Given the description of an element on the screen output the (x, y) to click on. 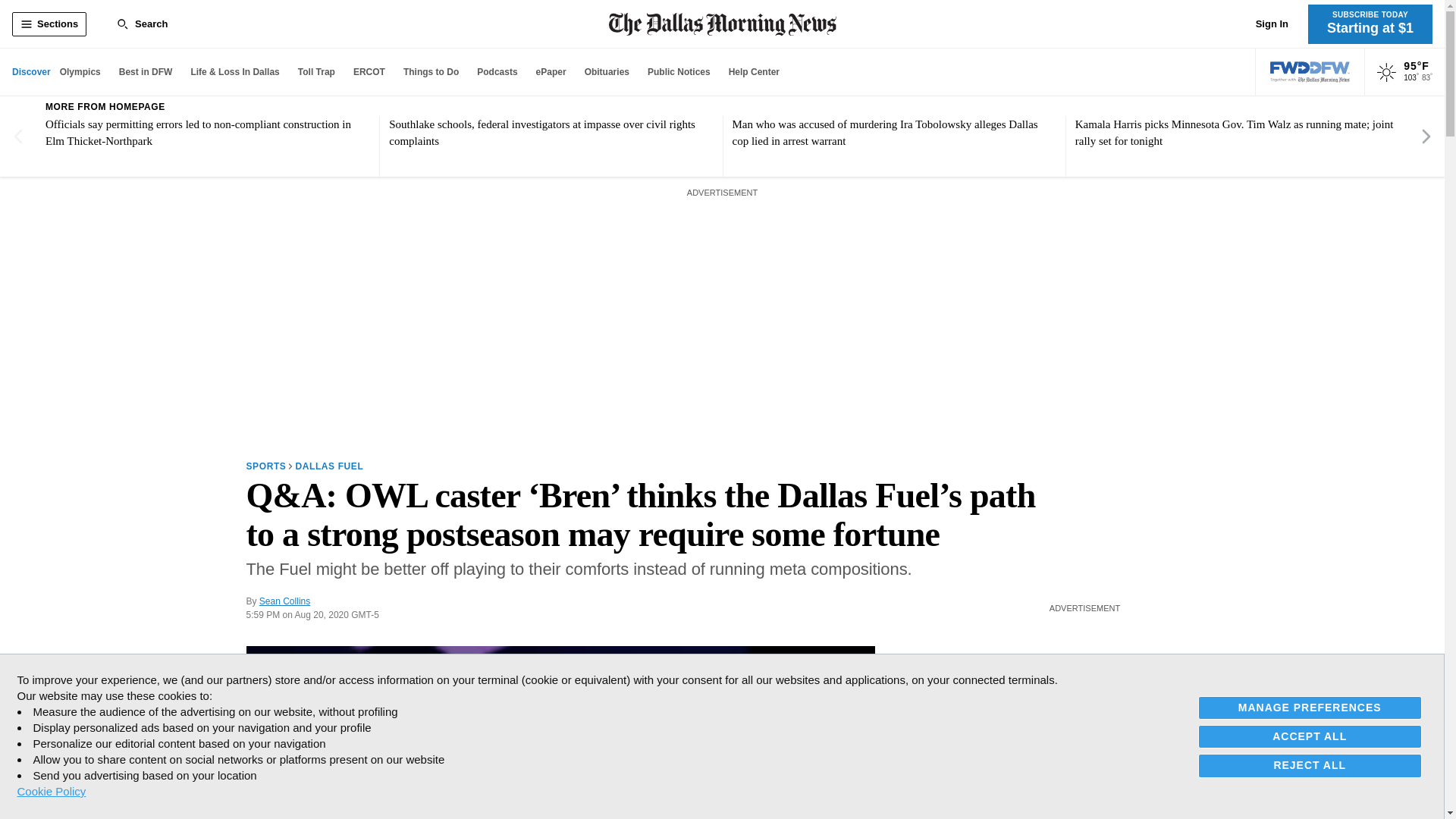
ACCEPT ALL (1310, 736)
Cookie Policy (50, 790)
Clear sky (1386, 72)
MANAGE PREFERENCES (1310, 707)
FWD DFW, Together with The Dallas Morning News (1310, 72)
REJECT ALL (1310, 765)
